Given the description of an element on the screen output the (x, y) to click on. 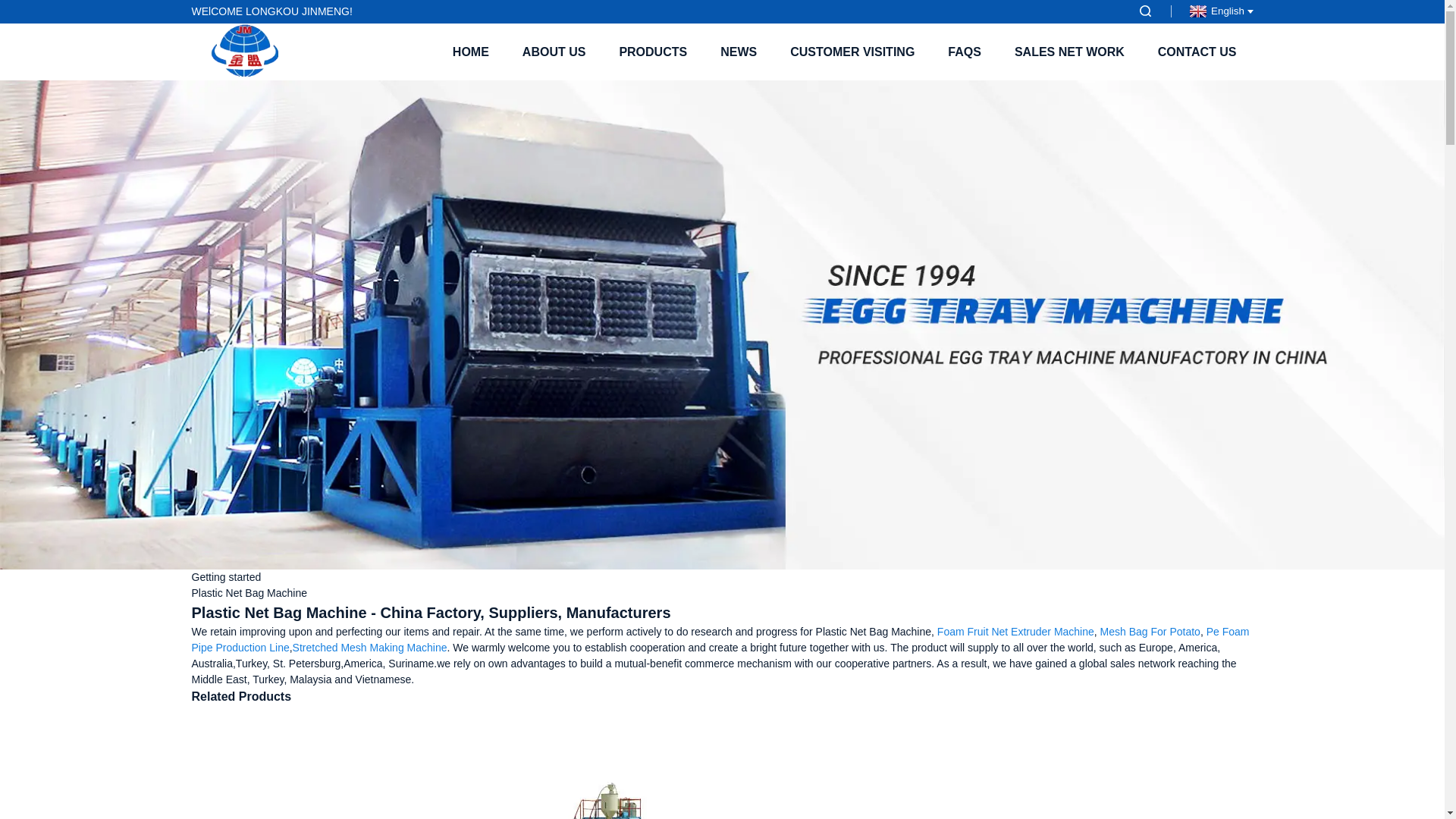
PRODUCTS (652, 51)
Stretched Mesh Making Machine (369, 647)
HOME (470, 51)
FAQS (964, 51)
CUSTOMER VISITING (852, 51)
English (1219, 10)
SALES NET WORK (1069, 51)
ABOUT US (553, 51)
Foam Fruit Net Extruder Machine (1015, 631)
NEWS (738, 51)
Mesh Bag For Potato (1149, 631)
Getting started (225, 576)
Pe Foam Pipe Production Line (719, 639)
Mesh Bag For Potato (1149, 631)
Plastic Net Bag Machine (248, 592)
